Given the description of an element on the screen output the (x, y) to click on. 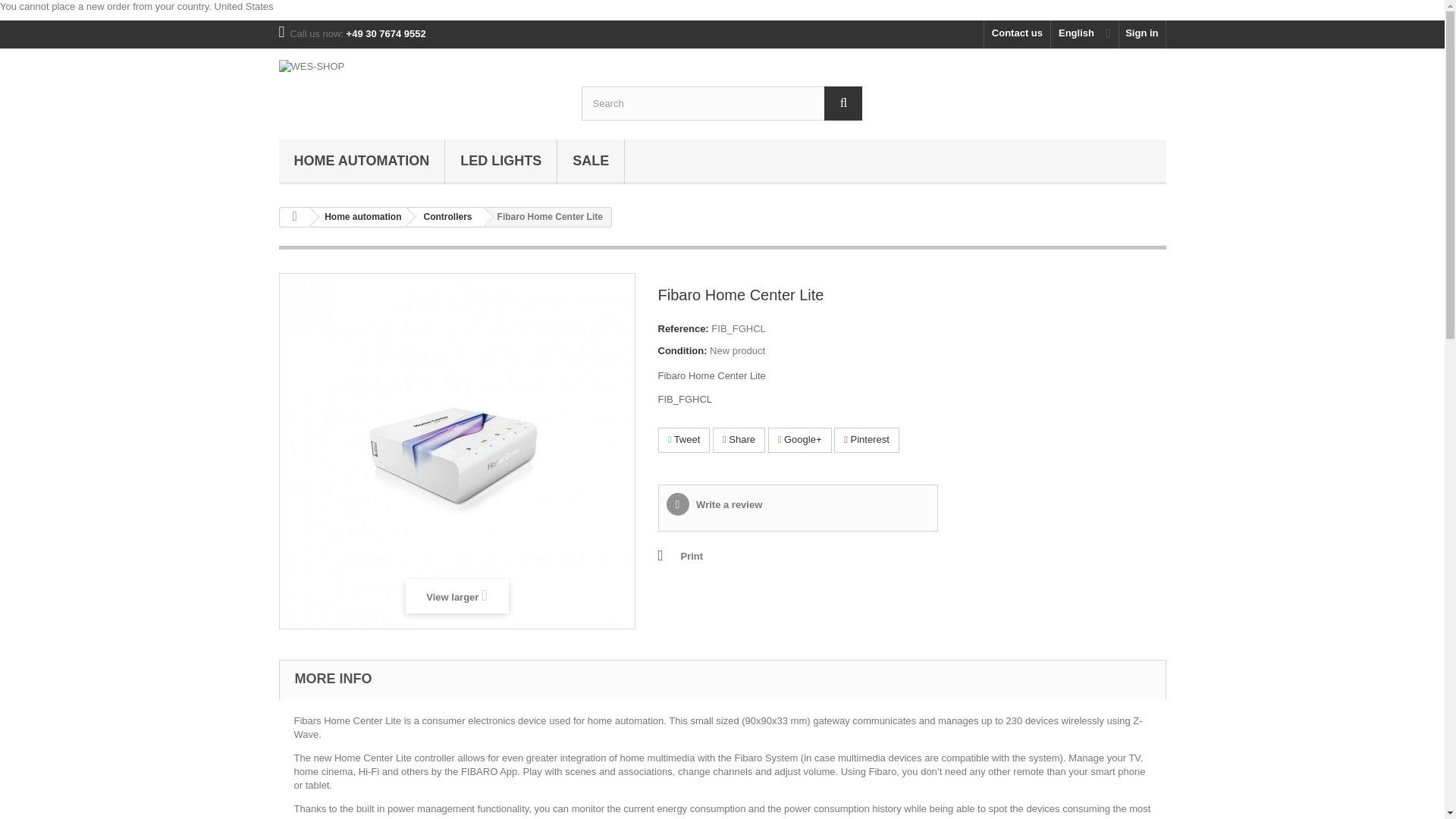
Controllers (445, 217)
SALE (590, 161)
Contact us (1016, 34)
Contact us (1016, 34)
Sign in (1141, 34)
HOME AUTOMATION (362, 161)
LED LIGHTS (500, 161)
Home automation (362, 161)
Tweet (684, 439)
Home automation (359, 217)
Log in to your customer account (1141, 34)
LED Lights (500, 161)
Share (739, 439)
WES-SHOP (419, 89)
